Given the description of an element on the screen output the (x, y) to click on. 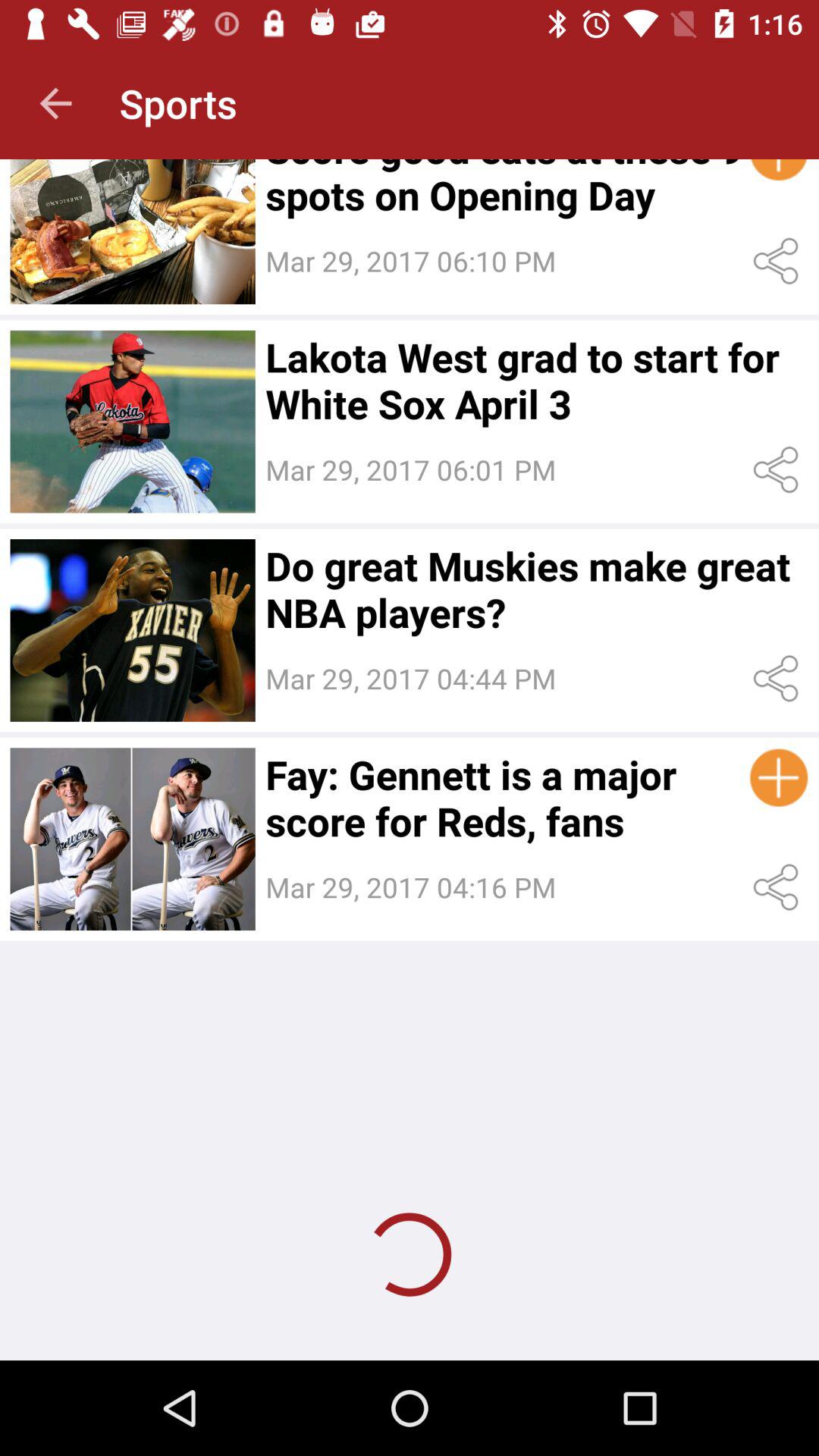
share the article (778, 261)
